Given the description of an element on the screen output the (x, y) to click on. 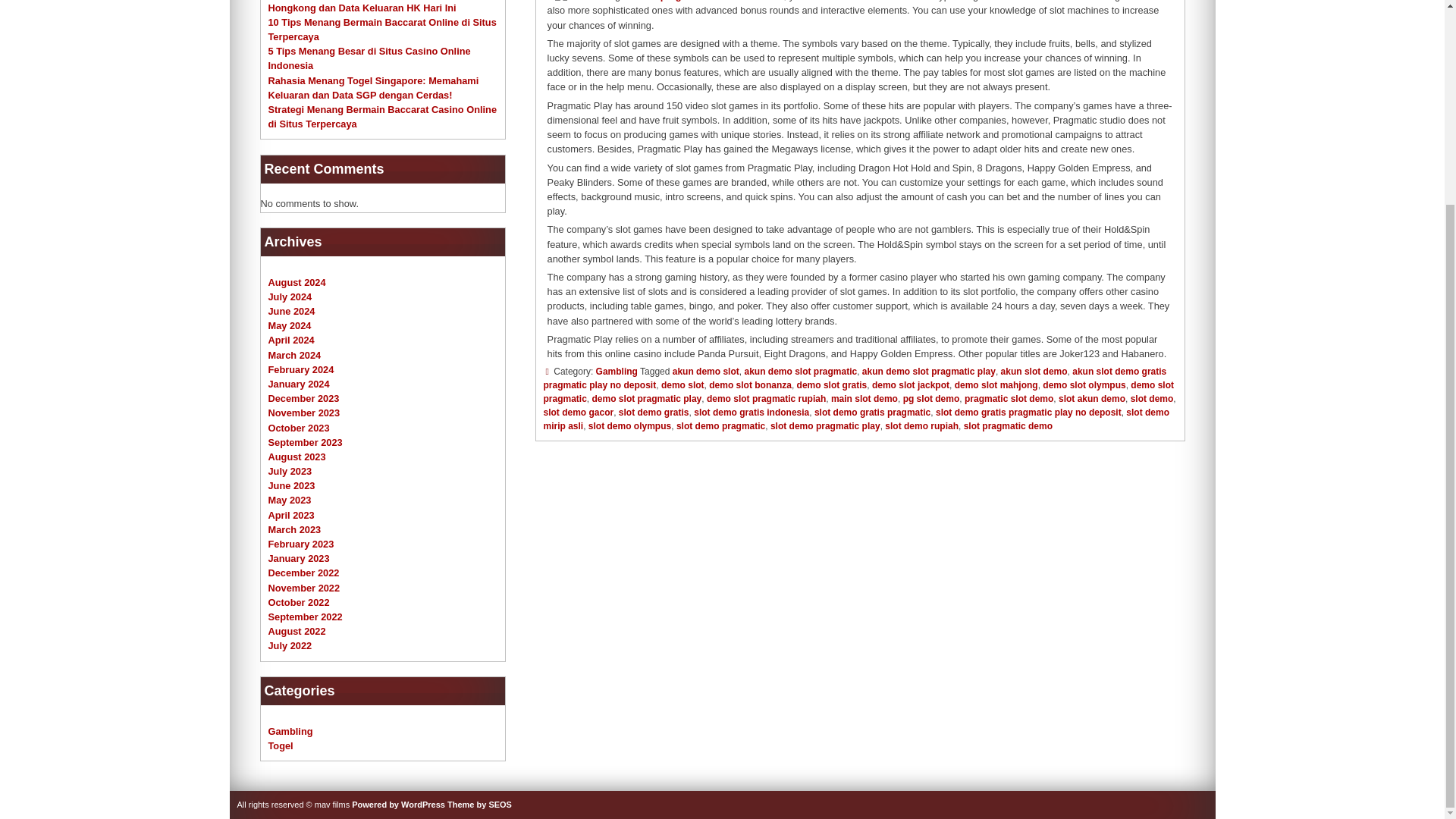
slot demo pragmatic (721, 425)
demo slot jackpot (910, 385)
demo slot olympus (1083, 385)
Seos free wordpress themes (479, 804)
slot demo gratis pragmatic play no deposit (1028, 412)
demo slot pragmatic play (646, 398)
pragmatic slot demo (1007, 398)
slot demo gratis indonesia (751, 412)
akun slot demo gratis pragmatic play no deposit (854, 378)
main slot demo (864, 398)
demo slot (682, 385)
slot demo gacor (577, 412)
pg slot demo (930, 398)
slot demo olympus (629, 425)
slot demo gratis pragmatic (871, 412)
